Given the description of an element on the screen output the (x, y) to click on. 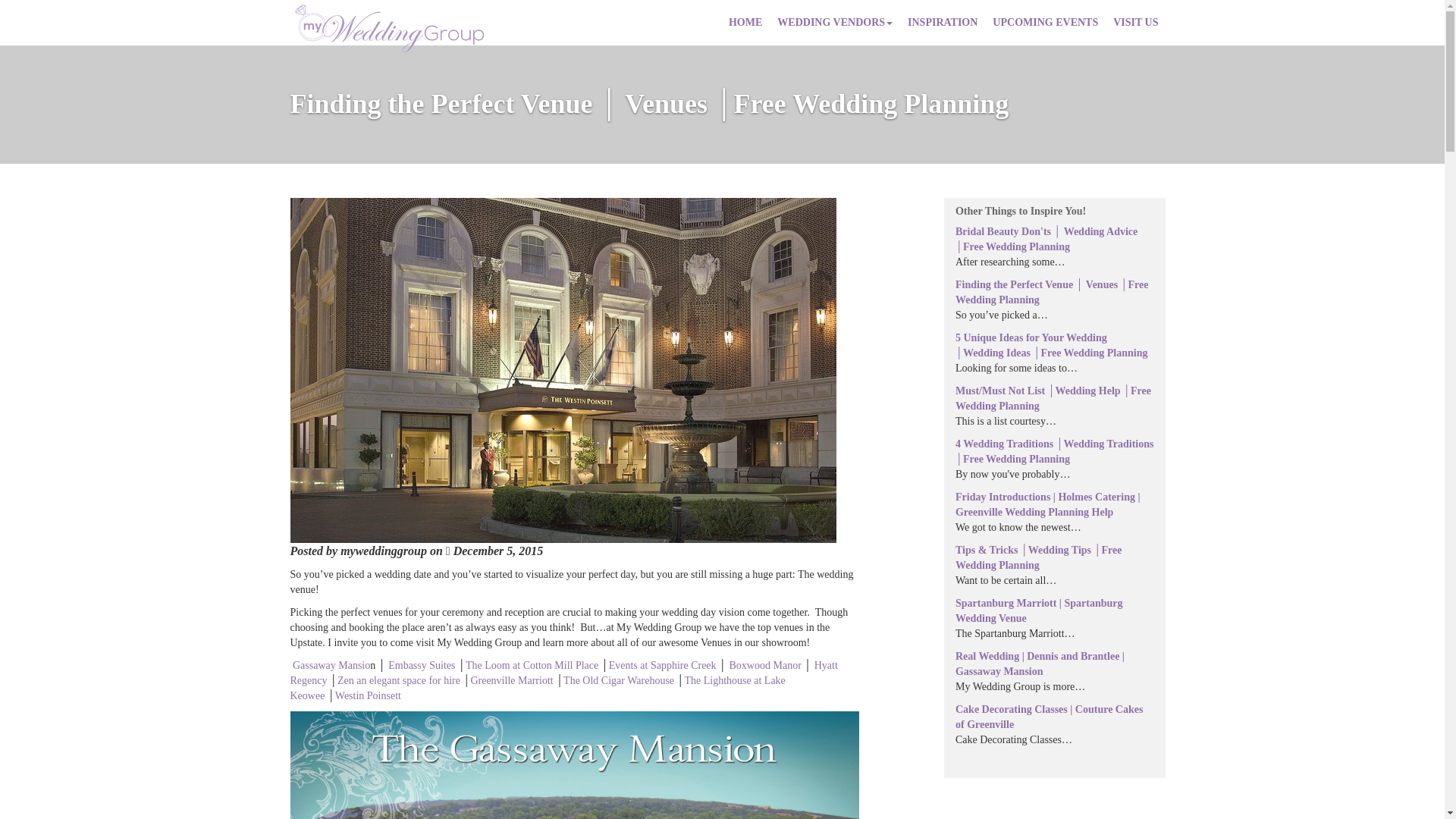
INSPIRATION (942, 22)
The Lighthouse at Lake Keowee (536, 687)
Embassy Suites (421, 665)
Gassaway Mansio (330, 665)
Boxwood Manor (765, 665)
VISIT US (1135, 22)
Events at Sapphire Creek (662, 665)
WEDDING VENDORS (834, 22)
The Loom at Cotton Mill Place (531, 665)
Hyatt Regency (563, 673)
HOME (745, 22)
UPCOMING EVENTS (1045, 22)
Westin Poinsett (367, 695)
The Old Cigar Warehouse (618, 680)
Zen an elegant space for hire (398, 680)
